Given the description of an element on the screen output the (x, y) to click on. 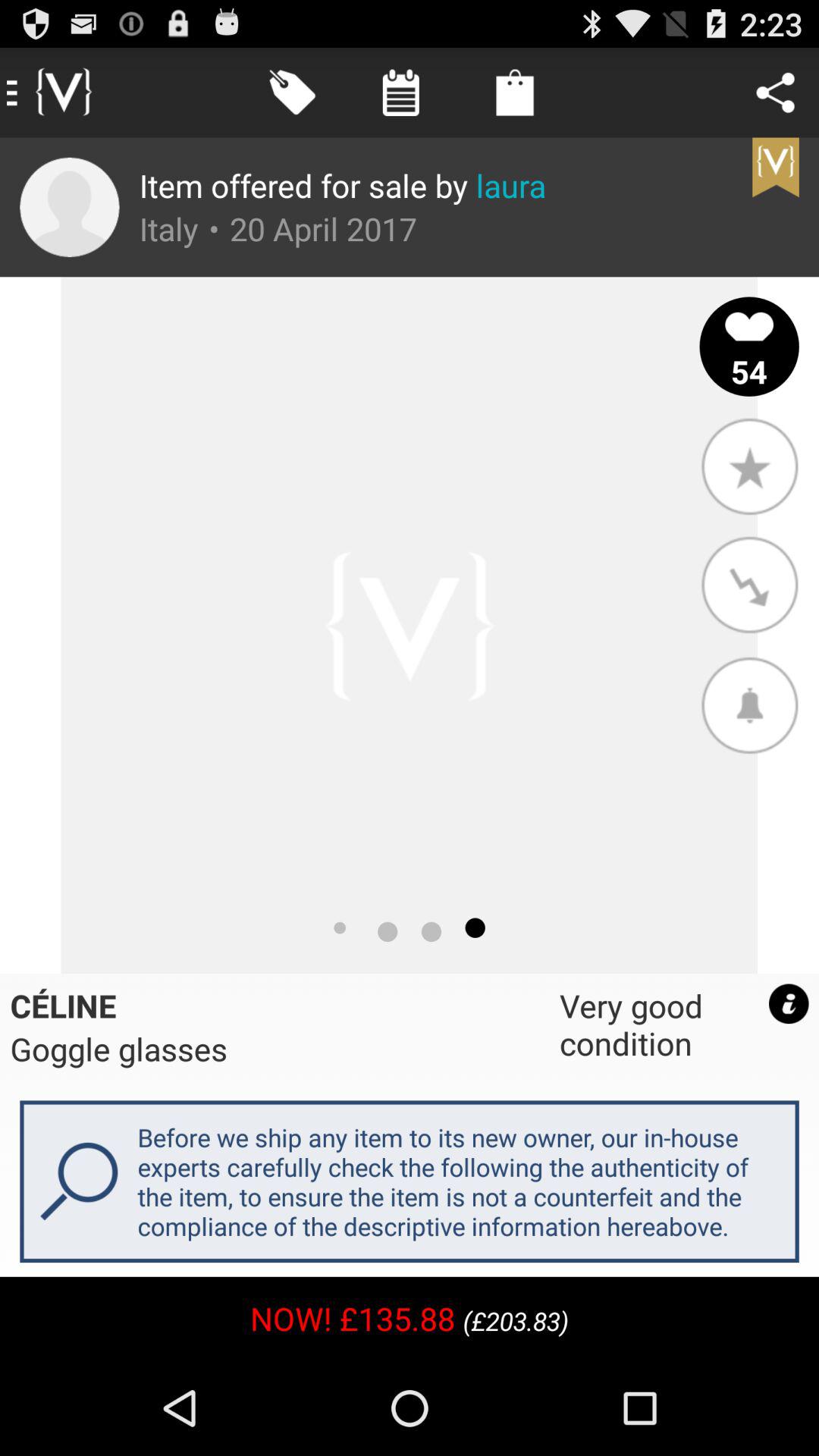
press app to the left of item offered for icon (69, 207)
